Given the description of an element on the screen output the (x, y) to click on. 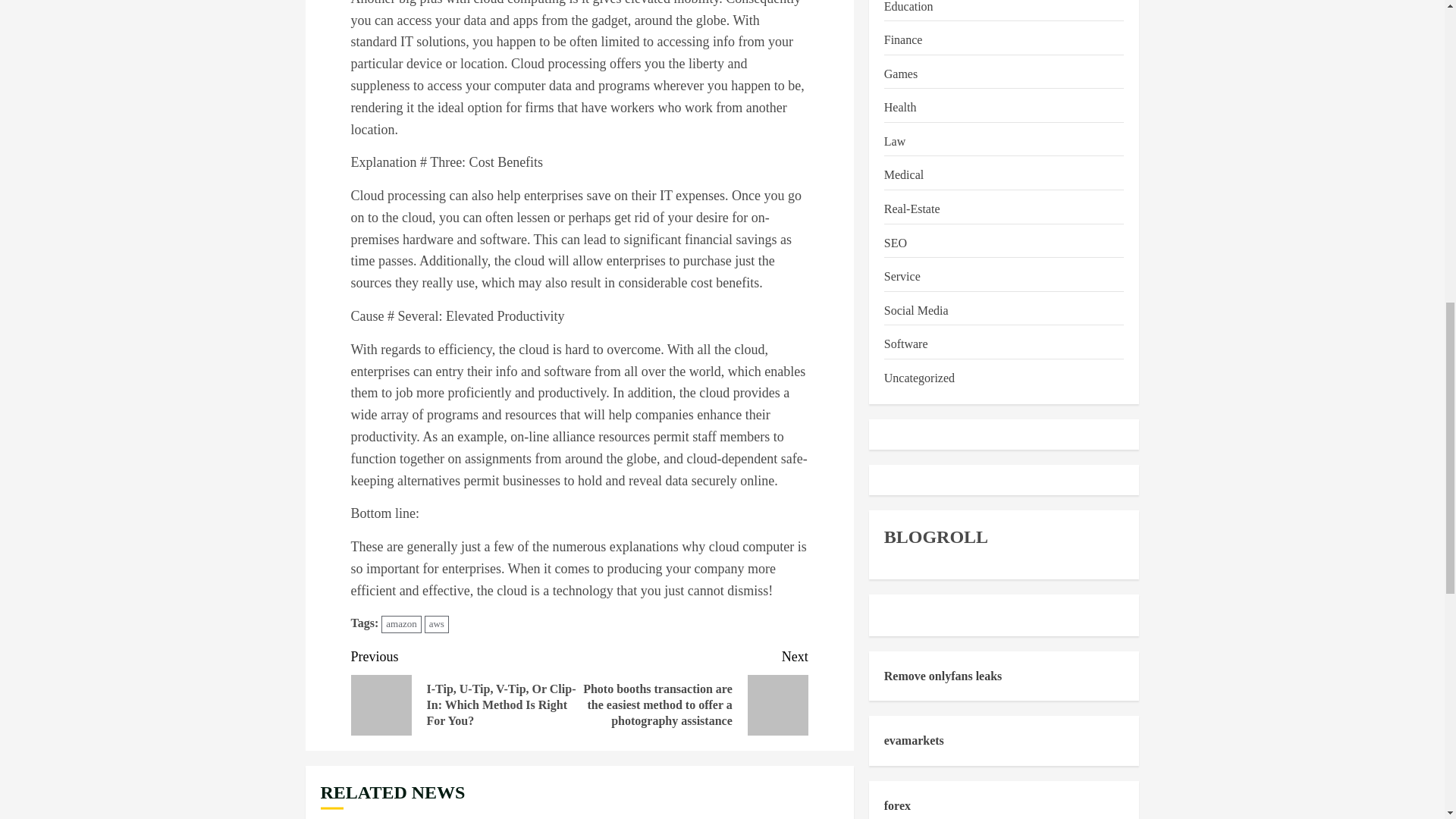
Medical (903, 175)
Real-Estate (911, 209)
Education (908, 8)
Games (900, 74)
Law (894, 141)
Health (900, 107)
aws (436, 624)
amazon (400, 624)
Finance (903, 40)
